Given the description of an element on the screen output the (x, y) to click on. 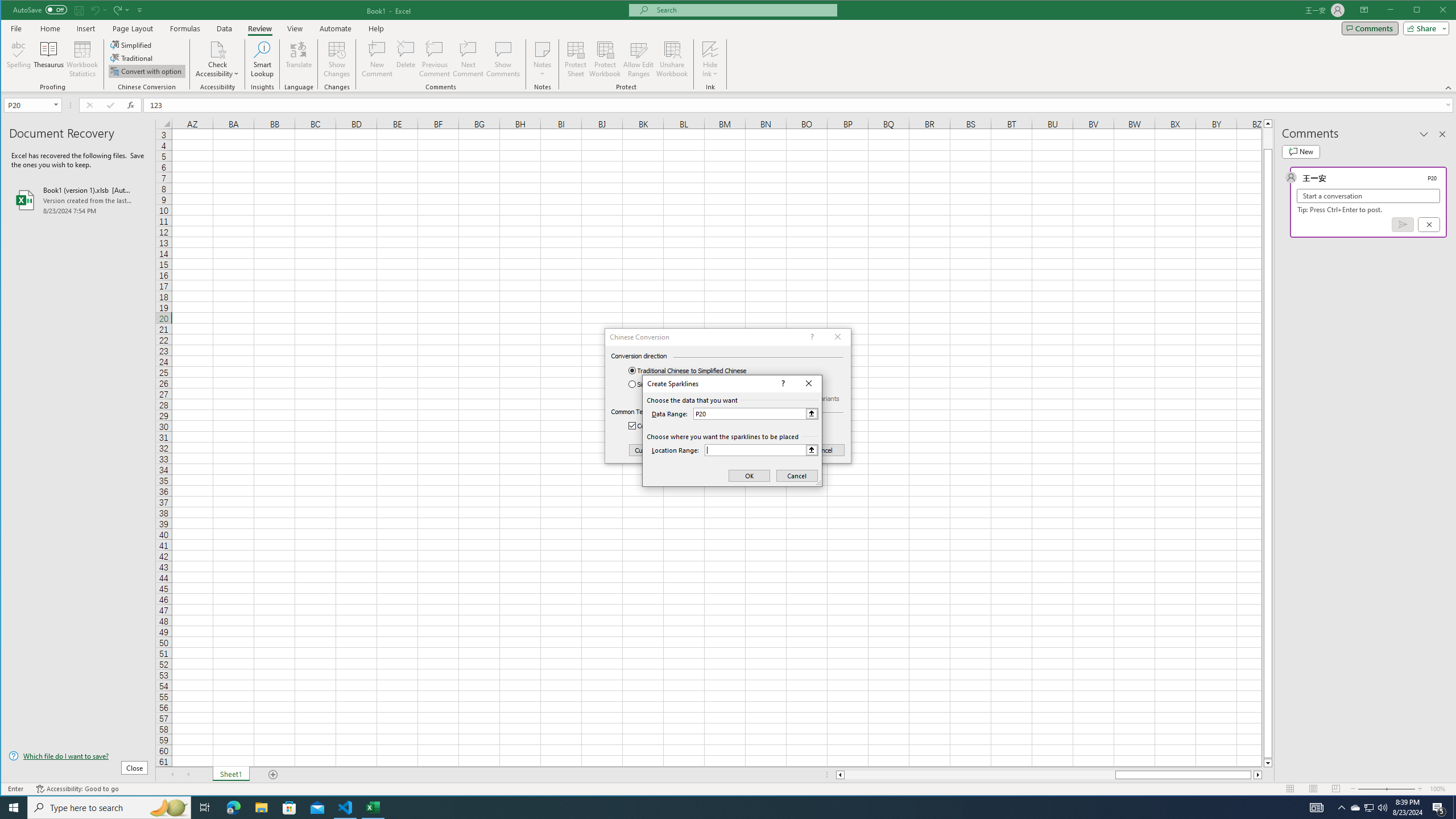
Show desktop (1454, 807)
Check Accessibility (217, 59)
Unshare Workbook (671, 59)
Show Comments (502, 59)
Data Range (755, 413)
Page up (1267, 138)
